Given the description of an element on the screen output the (x, y) to click on. 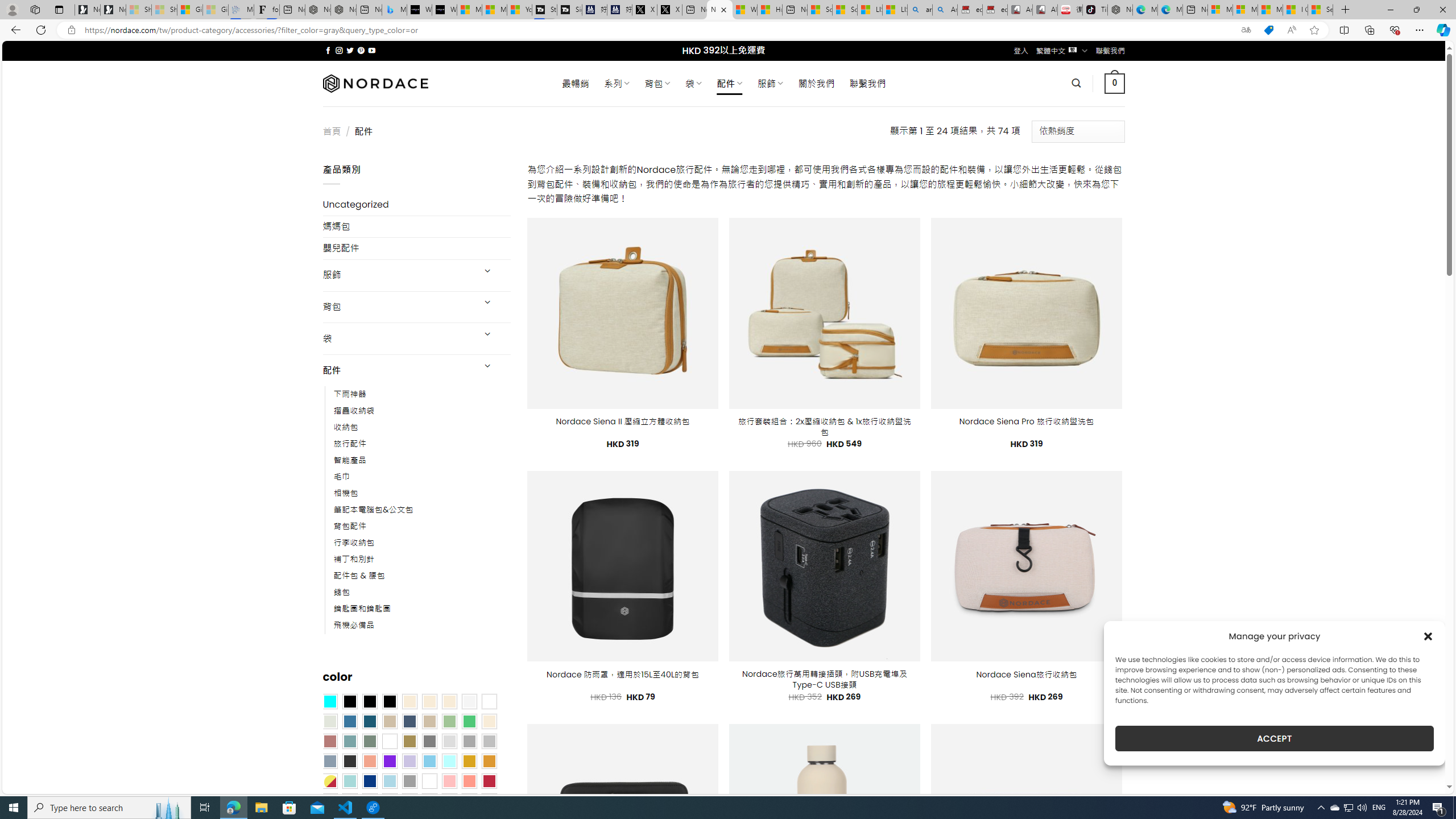
Microsoft Start Sports (469, 9)
Streaming Coverage | T3 (544, 9)
TikTok (1094, 9)
